Given the description of an element on the screen output the (x, y) to click on. 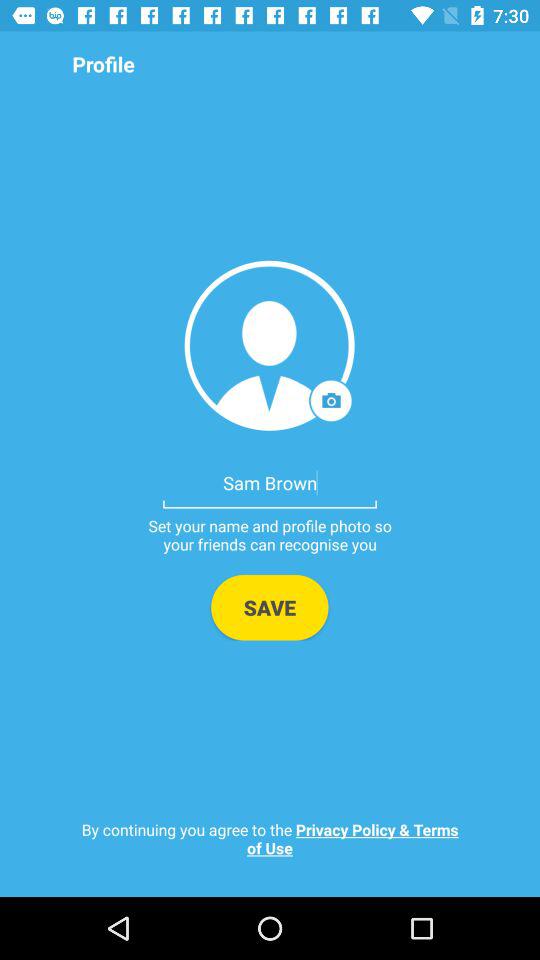
add profile (269, 345)
